Given the description of an element on the screen output the (x, y) to click on. 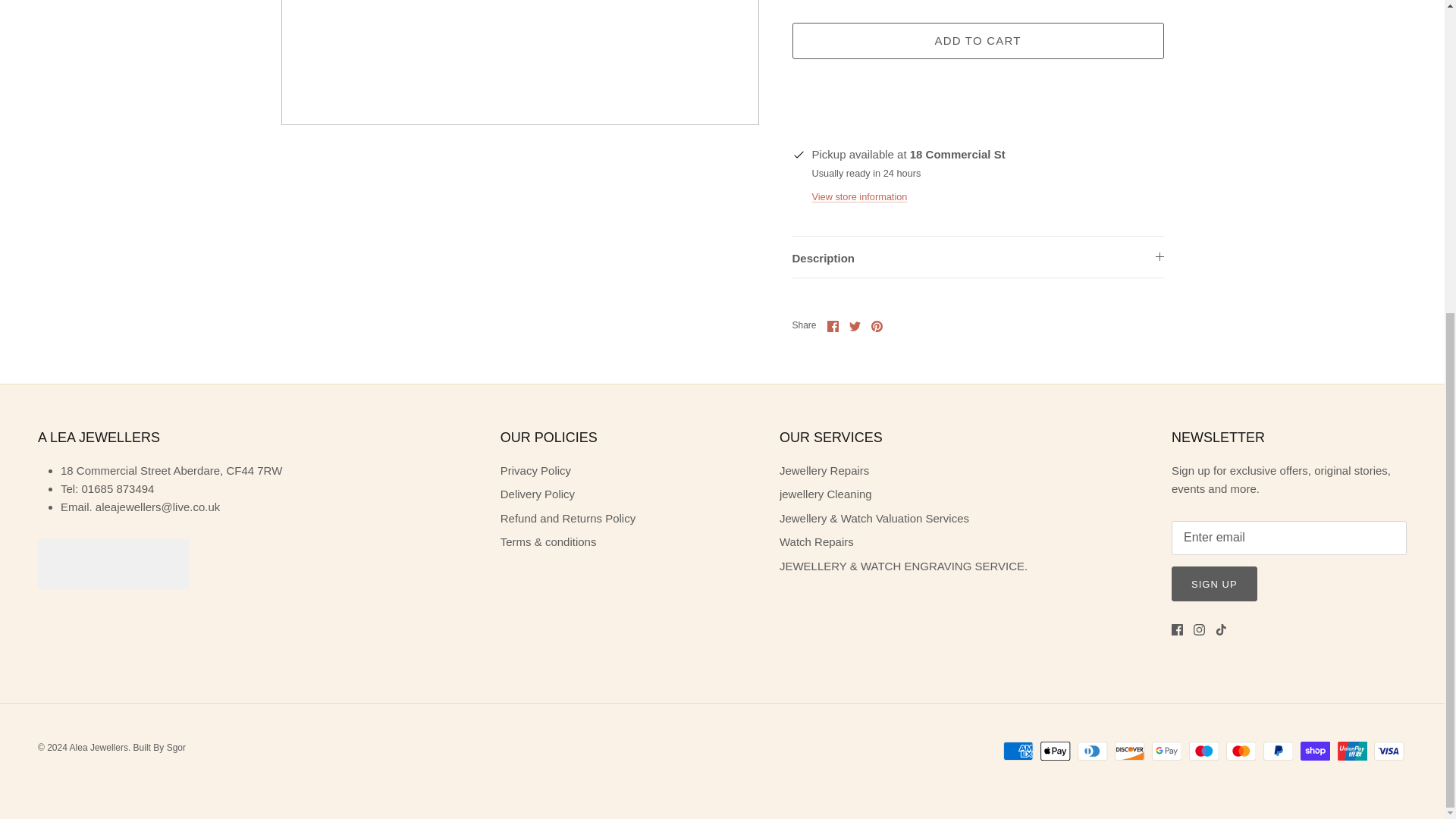
Facebook (832, 326)
American Express (1018, 751)
Facebook (1177, 629)
Apple Pay (1055, 751)
Pinterest (876, 326)
Twitter (854, 326)
Instagram (1199, 629)
